Given the description of an element on the screen output the (x, y) to click on. 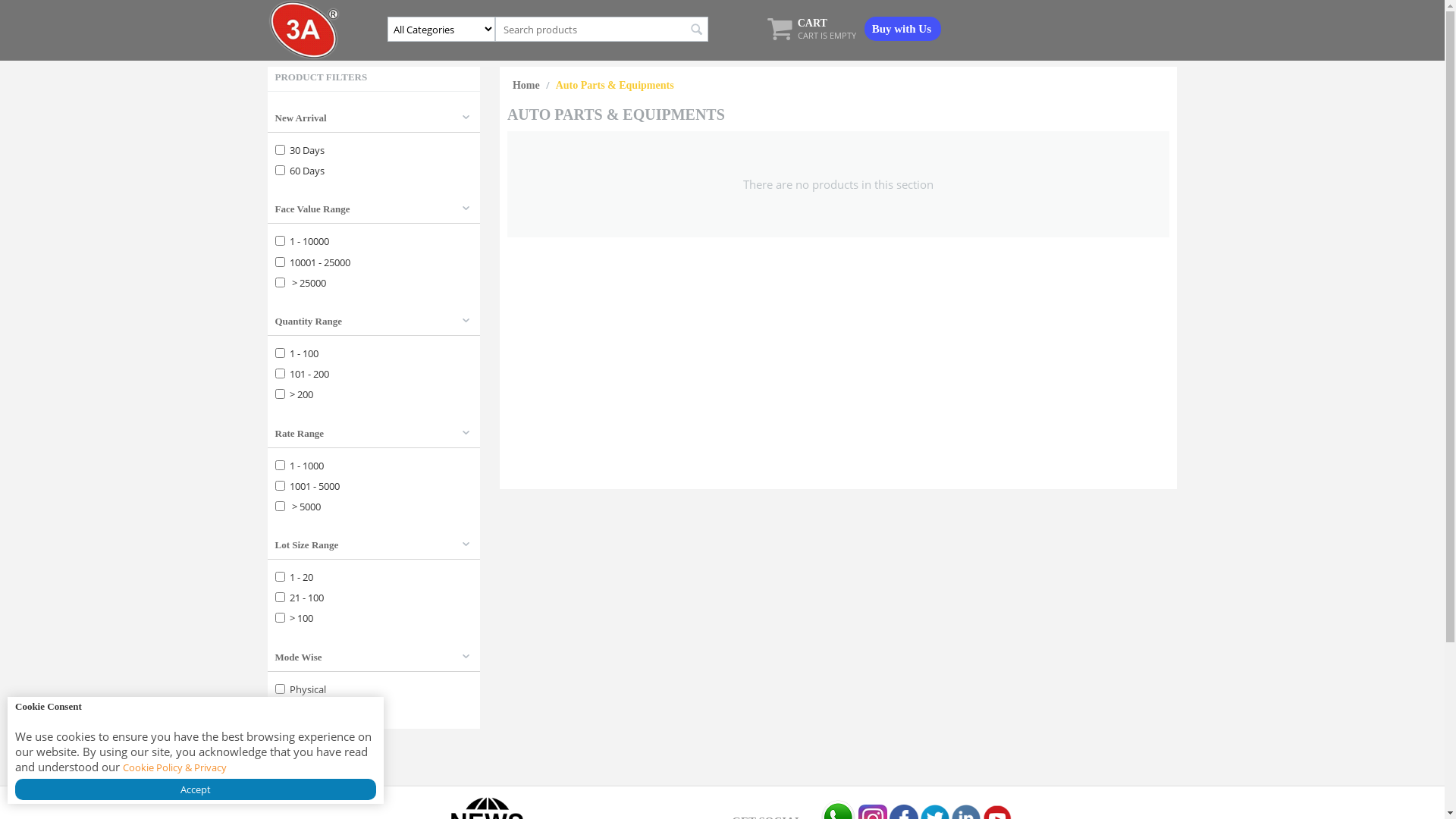
Buy with Us Element type: text (901, 28)
3adeal.com Element type: hover (302, 28)
Accept Element type: text (195, 789)
Search Element type: hover (695, 30)
Search products Element type: hover (601, 28)
Home Element type: text (526, 85)
CART
CART IS EMPTY Element type: text (811, 34)
Cookie Policy & Privacy Element type: text (174, 767)
